Given the description of an element on the screen output the (x, y) to click on. 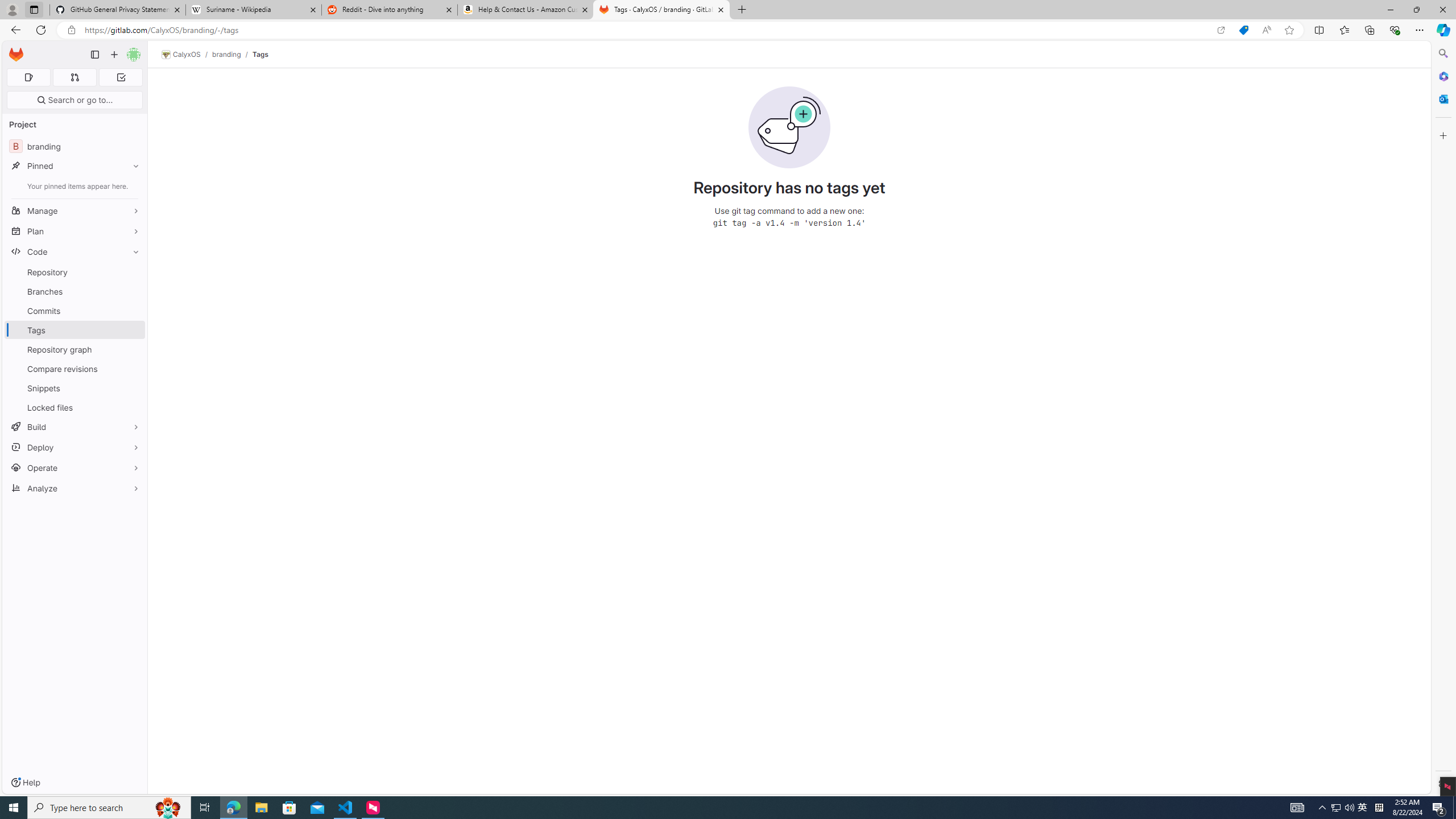
branding/ (231, 53)
CalyxOS (180, 54)
Repository graph (74, 348)
Repository (74, 271)
Branches (74, 290)
Pin Repository (132, 272)
Snippets (74, 387)
